Given the description of an element on the screen output the (x, y) to click on. 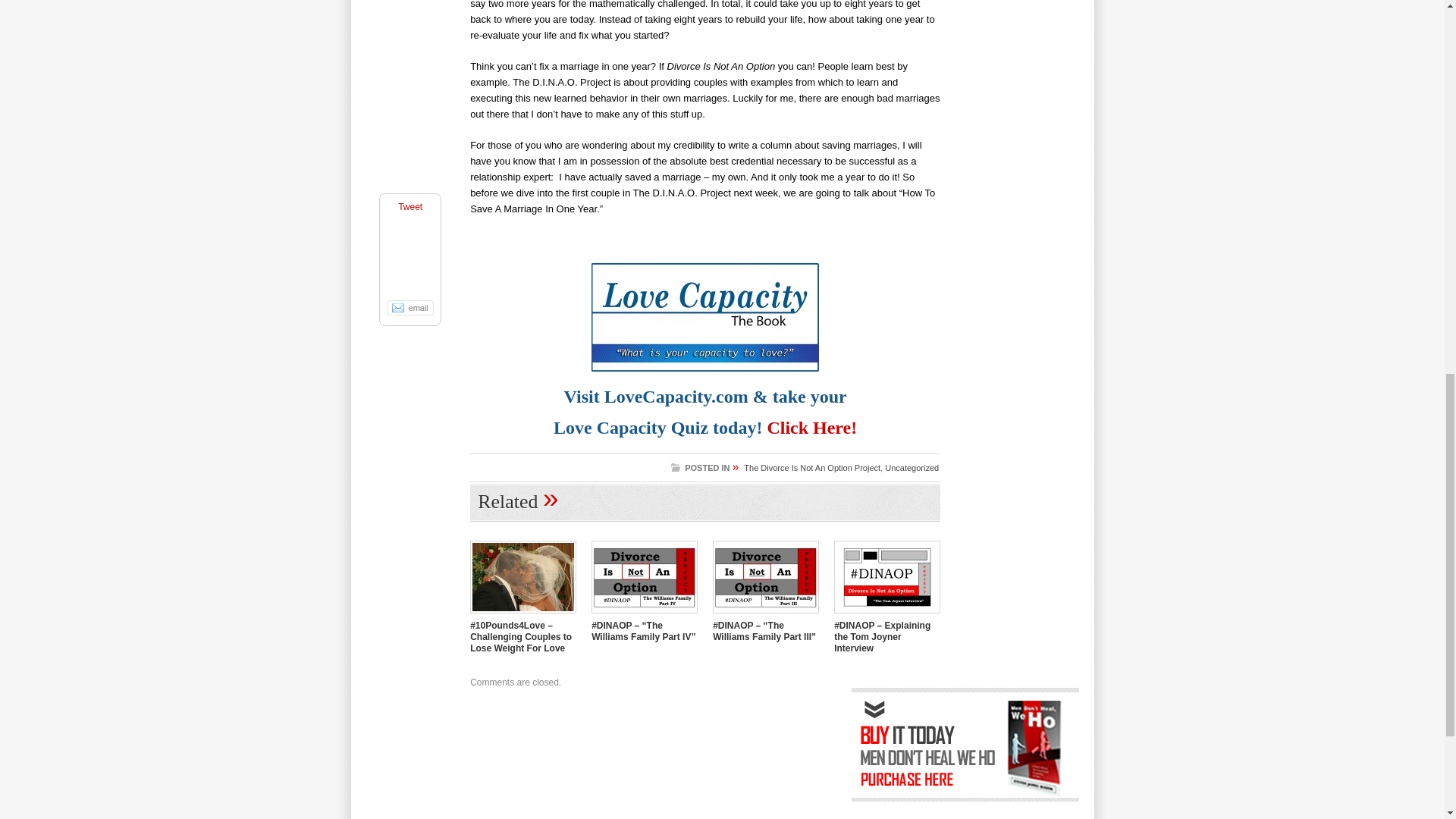
The Divorce Is Not An Option Project (812, 467)
Uncategorized (912, 467)
Click Here! (812, 427)
